Given the description of an element on the screen output the (x, y) to click on. 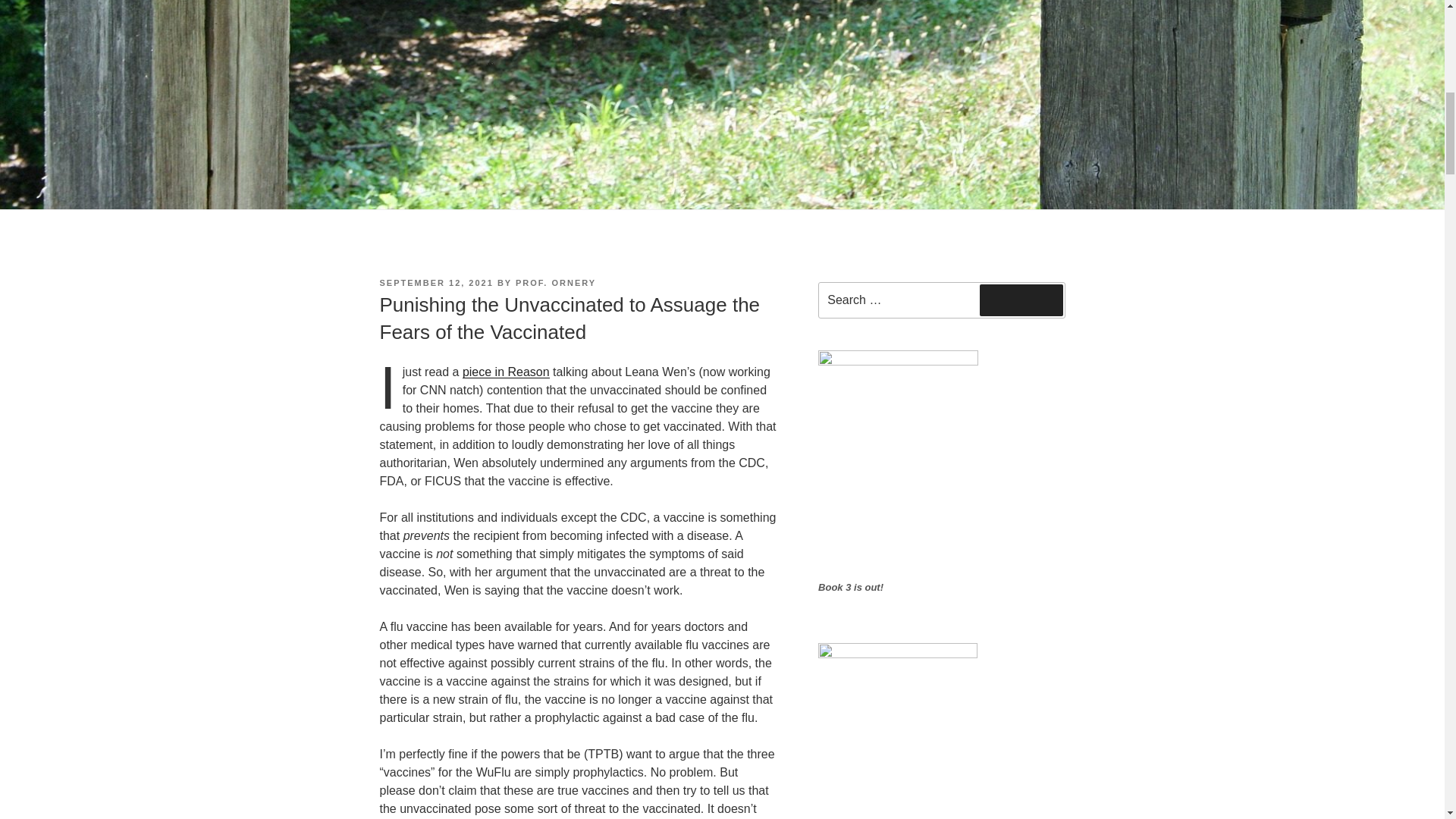
SEPTEMBER 12, 2021 (435, 282)
PROF. ORNERY (555, 282)
Search (1020, 300)
piece in Reason (506, 371)
